Given the description of an element on the screen output the (x, y) to click on. 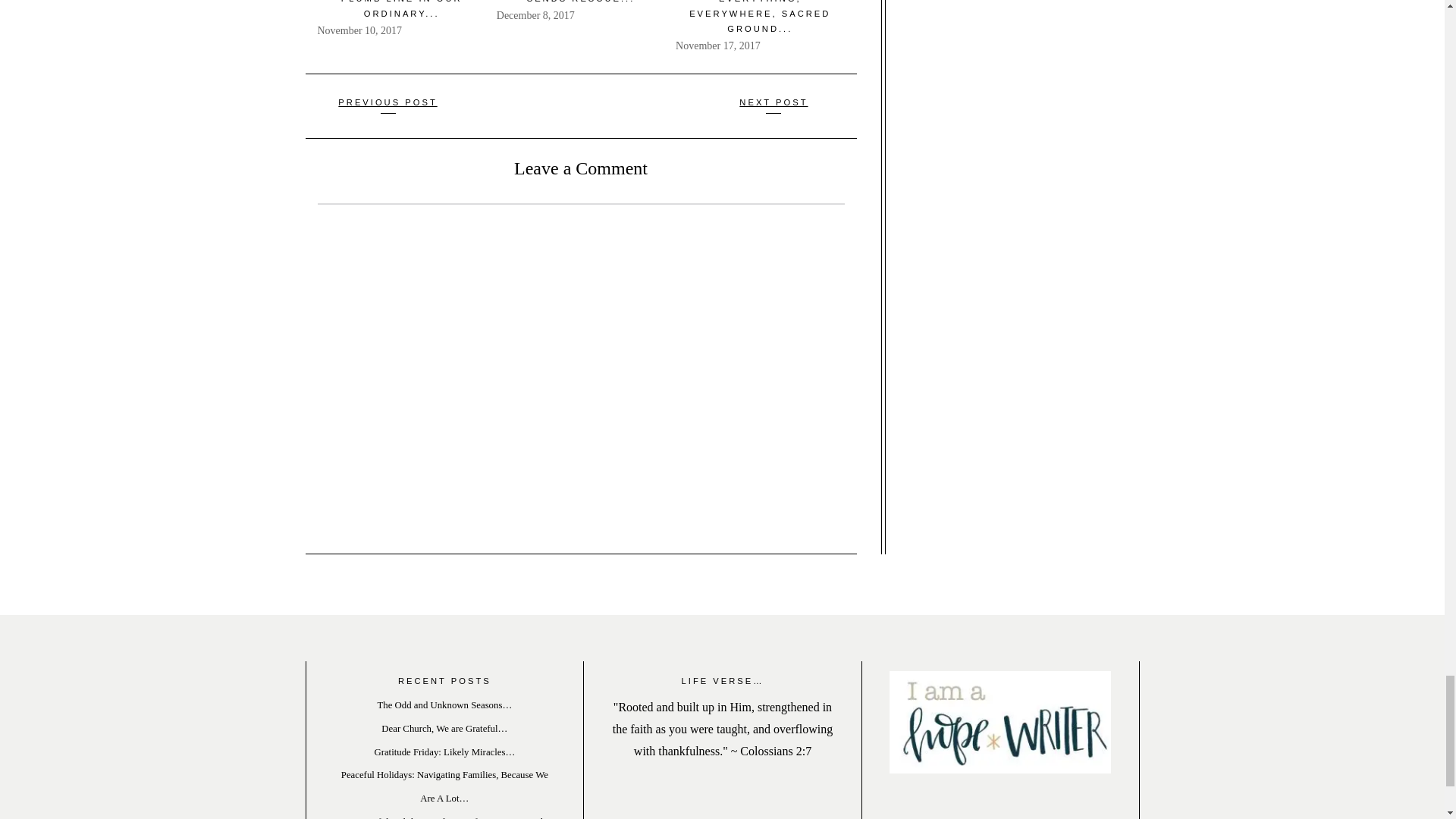
A GRATEFUL HOLIDAY: GOD SENDS RESCUE... (580, 1)
A GRATEFUL HOLIDAY: EVERYTHING, EVERYWHERE, SACRED GROUND... (758, 16)
A GRATEFUL HOLIDAY: THE PLUMB LINE IN OUR ORDINARY... (400, 9)
A Grateful Holiday: Everything, Everywhere, Sacred Ground... (758, 16)
A Grateful Holiday: God Sends Rescue... (580, 1)
A Grateful Holiday: The Plumb Line in Our Ordinary... (400, 9)
